Given the description of an element on the screen output the (x, y) to click on. 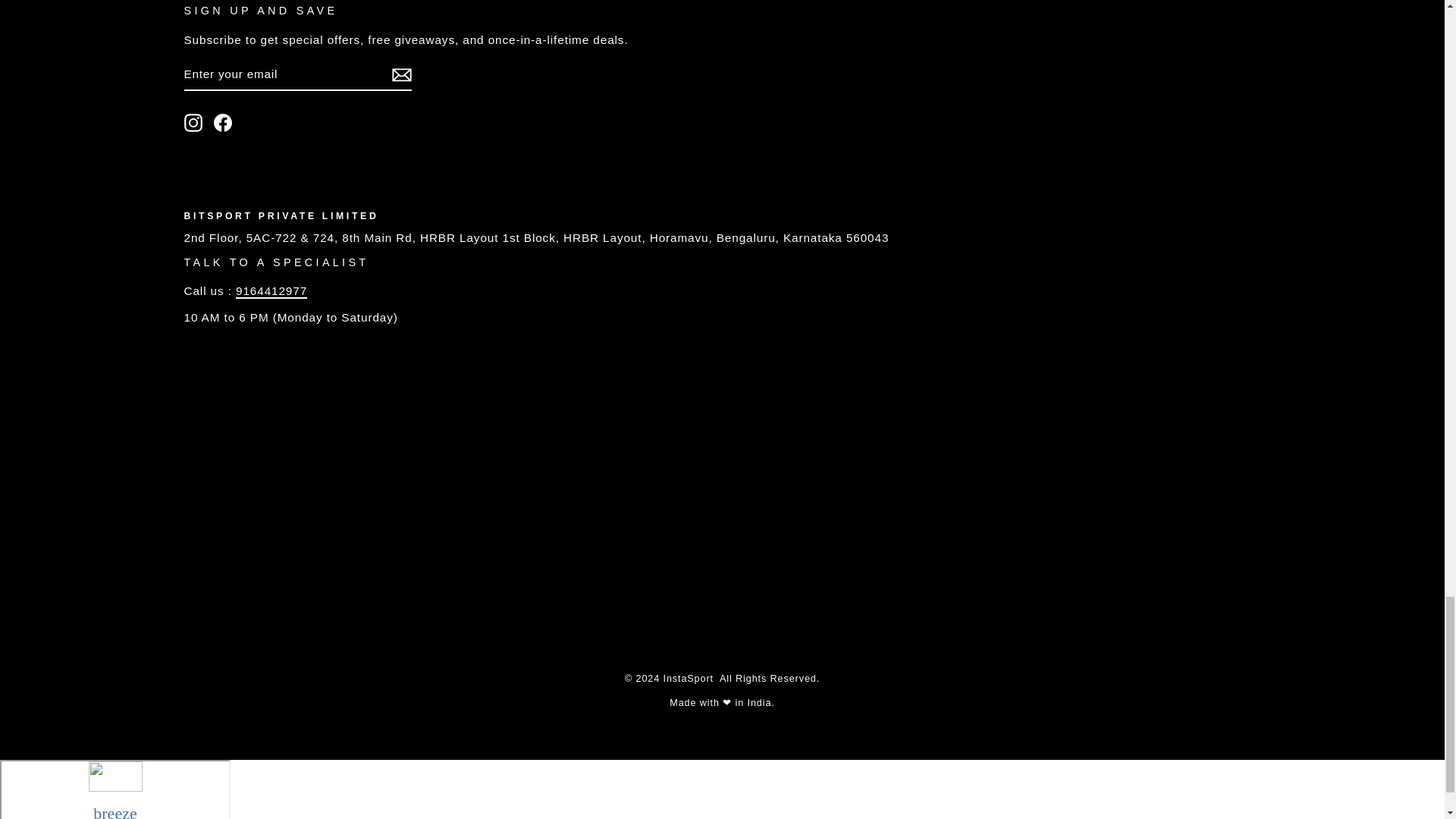
InstaSport on Facebook (222, 122)
tel:919164412977 (271, 291)
icon-email (400, 75)
InstaSport on Instagram (192, 122)
instagram (192, 122)
